Given the description of an element on the screen output the (x, y) to click on. 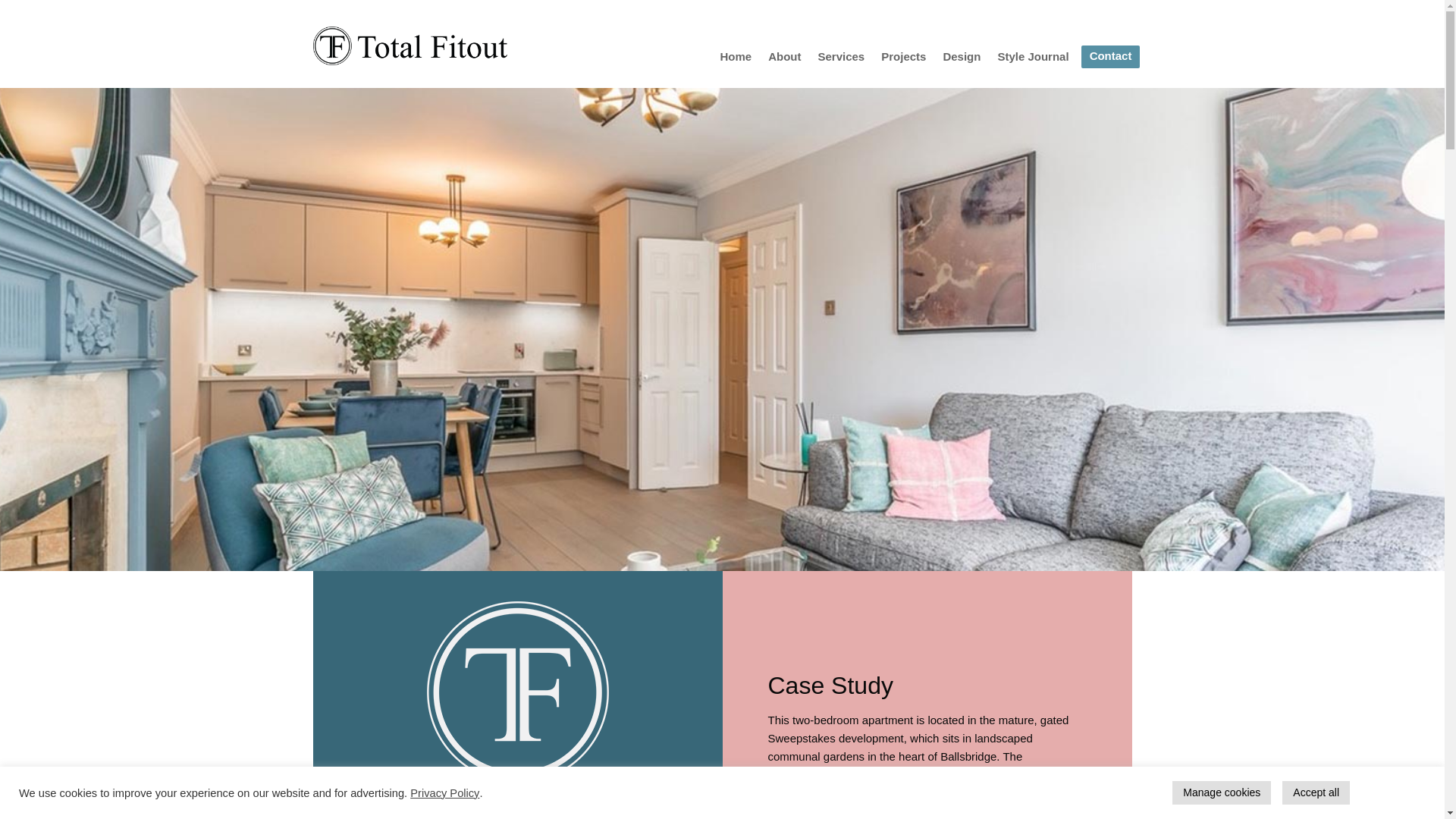
Contact (1110, 58)
More Projects (1377, 788)
Home (735, 59)
Total Fitout Lengthwise BLACK (409, 45)
Projects (903, 59)
Services (840, 59)
Manage cookies (1221, 792)
Privacy Policy (444, 792)
Accept all (1315, 792)
About (784, 59)
Style Journal (1032, 59)
Design (960, 59)
